Given the description of an element on the screen output the (x, y) to click on. 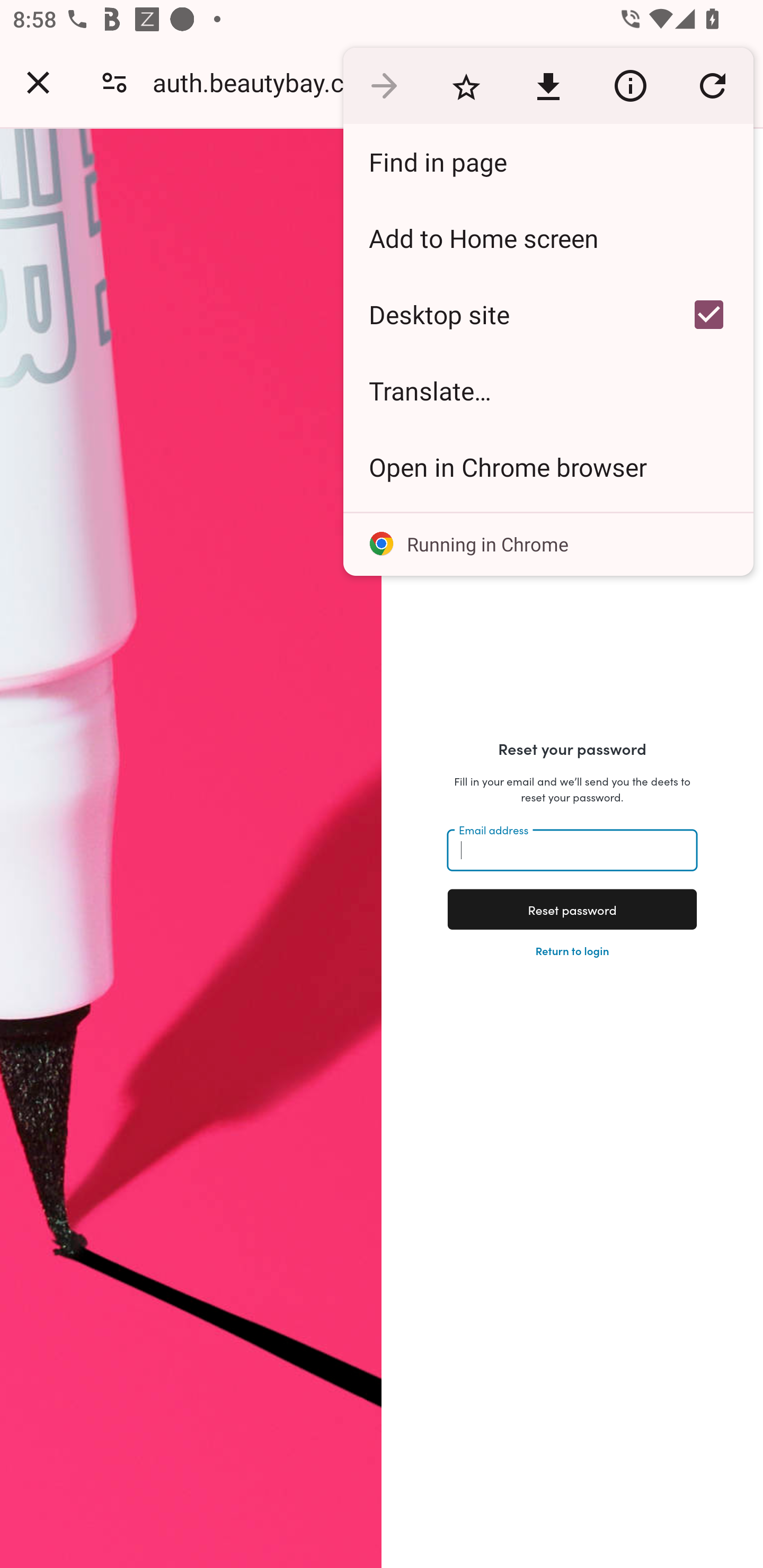
Go forward (383, 85)
Bookmark (465, 85)
Download this page (548, 85)
View site information (630, 85)
Refresh (712, 85)
Find in page (548, 161)
Add to Home screen (548, 237)
Desktop site Turn off Request desktop site (503, 313)
Translate… (548, 390)
Open in Chrome browser (548, 466)
